Given the description of an element on the screen output the (x, y) to click on. 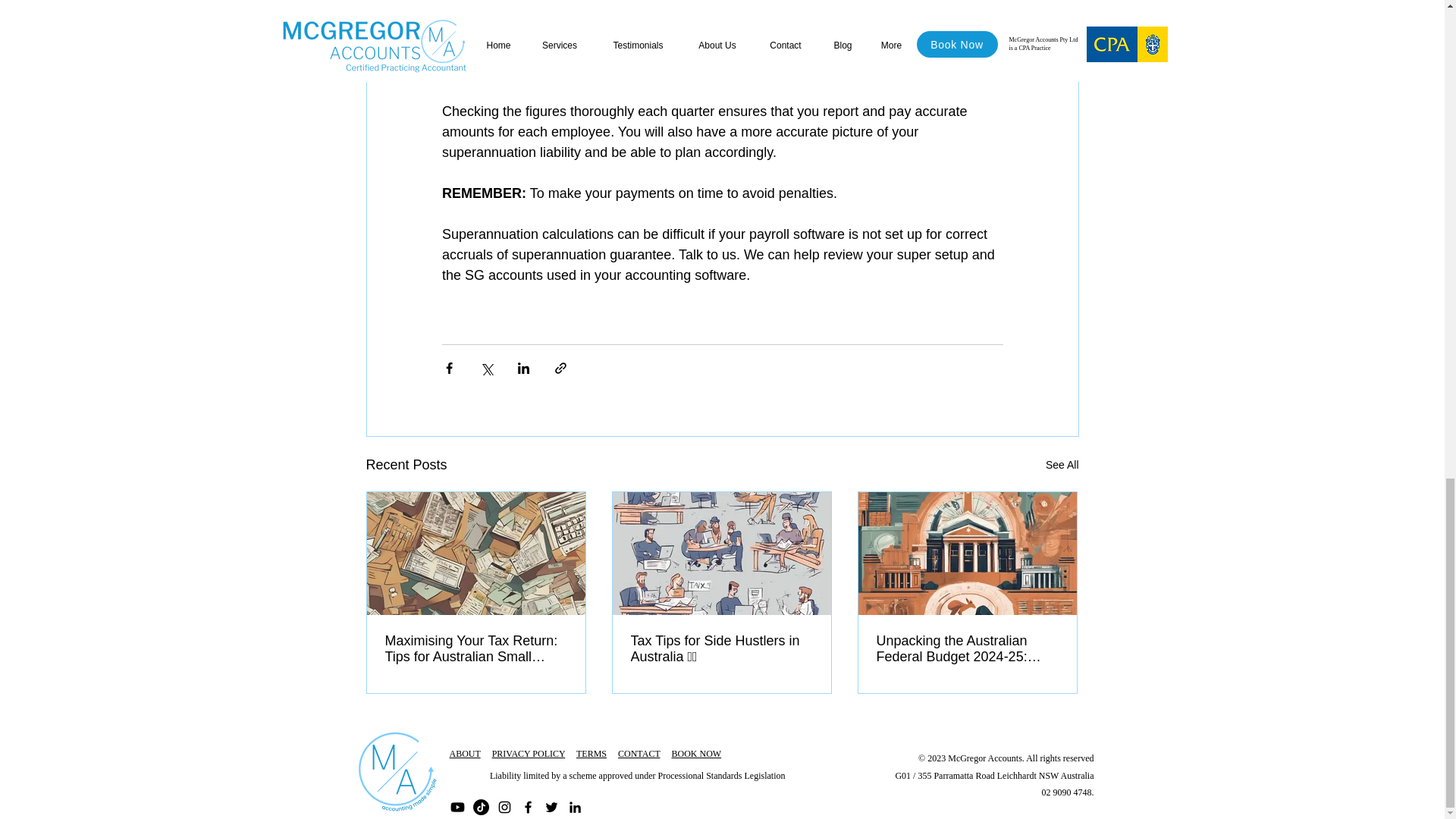
See All (1061, 464)
PRIVACY POLICY (529, 753)
TERMS (591, 753)
ABOUT (464, 753)
